Given the description of an element on the screen output the (x, y) to click on. 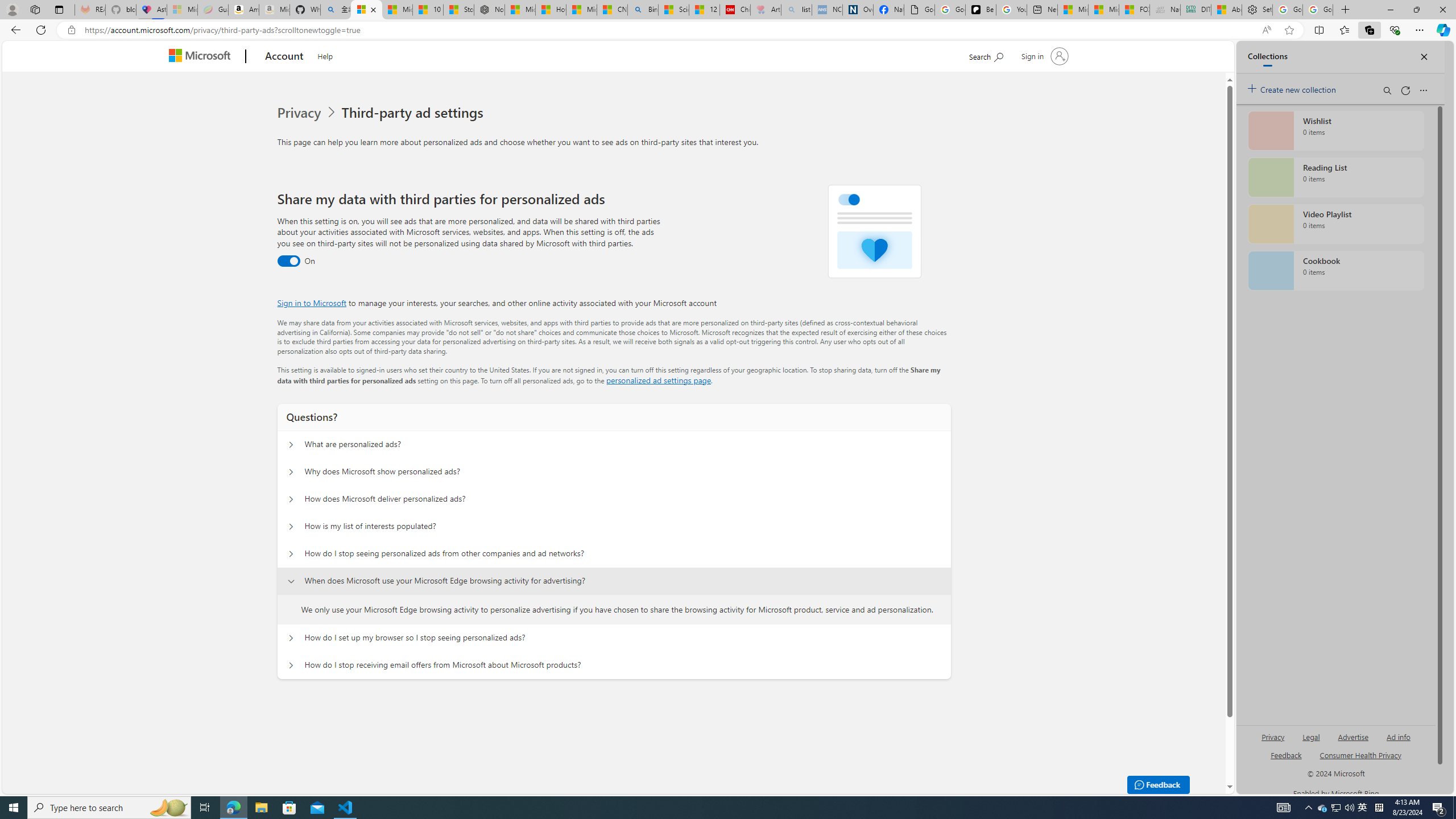
Be Smart | creating Science videos | Patreon (980, 9)
Third party data sharing toggle (287, 260)
Arthritis: Ask Health Professionals - Sleeping (765, 9)
Sign in to Microsoft (311, 302)
